Given the description of an element on the screen output the (x, y) to click on. 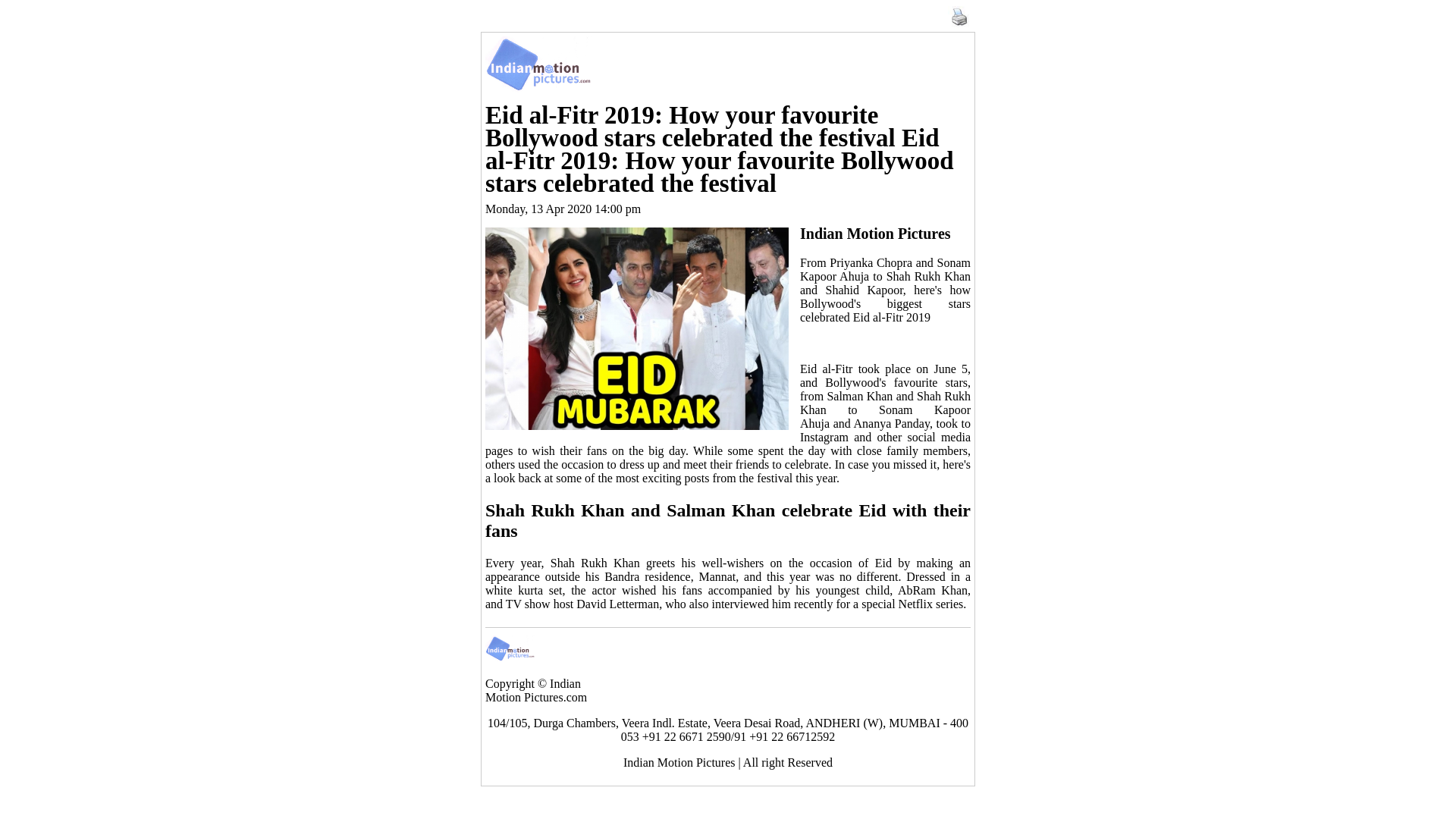
Indian Motion Pictures (537, 64)
Click to Print (959, 24)
Indian Motion Pictures (636, 328)
Indian Motion Pictures (509, 648)
